Given the description of an element on the screen output the (x, y) to click on. 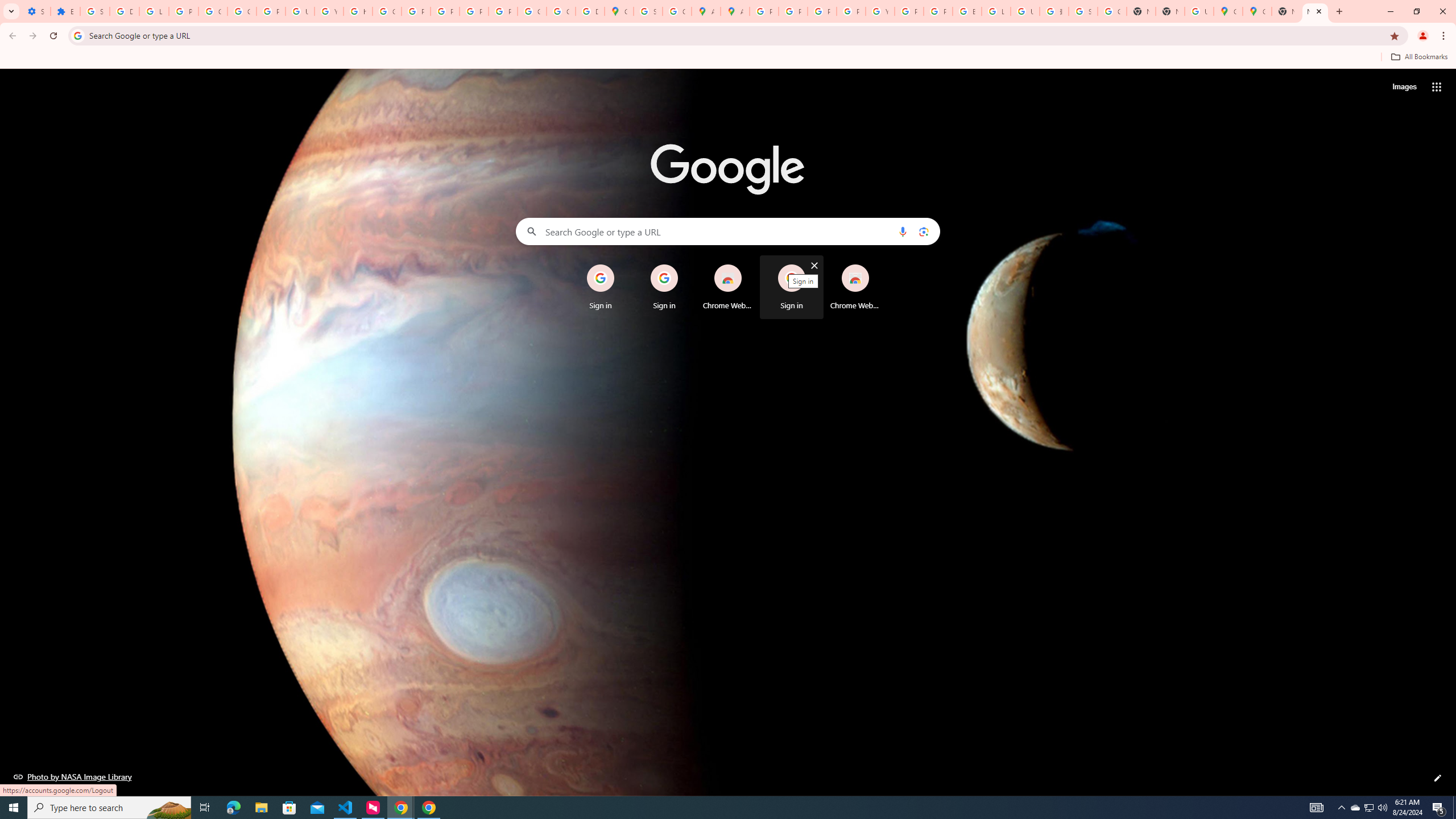
Sign in - Google Accounts (1082, 11)
Customize this page (1437, 778)
Privacy Help Center - Policies Help (792, 11)
Use Google Maps in Space - Google Maps Help (1198, 11)
Privacy Help Center - Policies Help (821, 11)
